Given the description of an element on the screen output the (x, y) to click on. 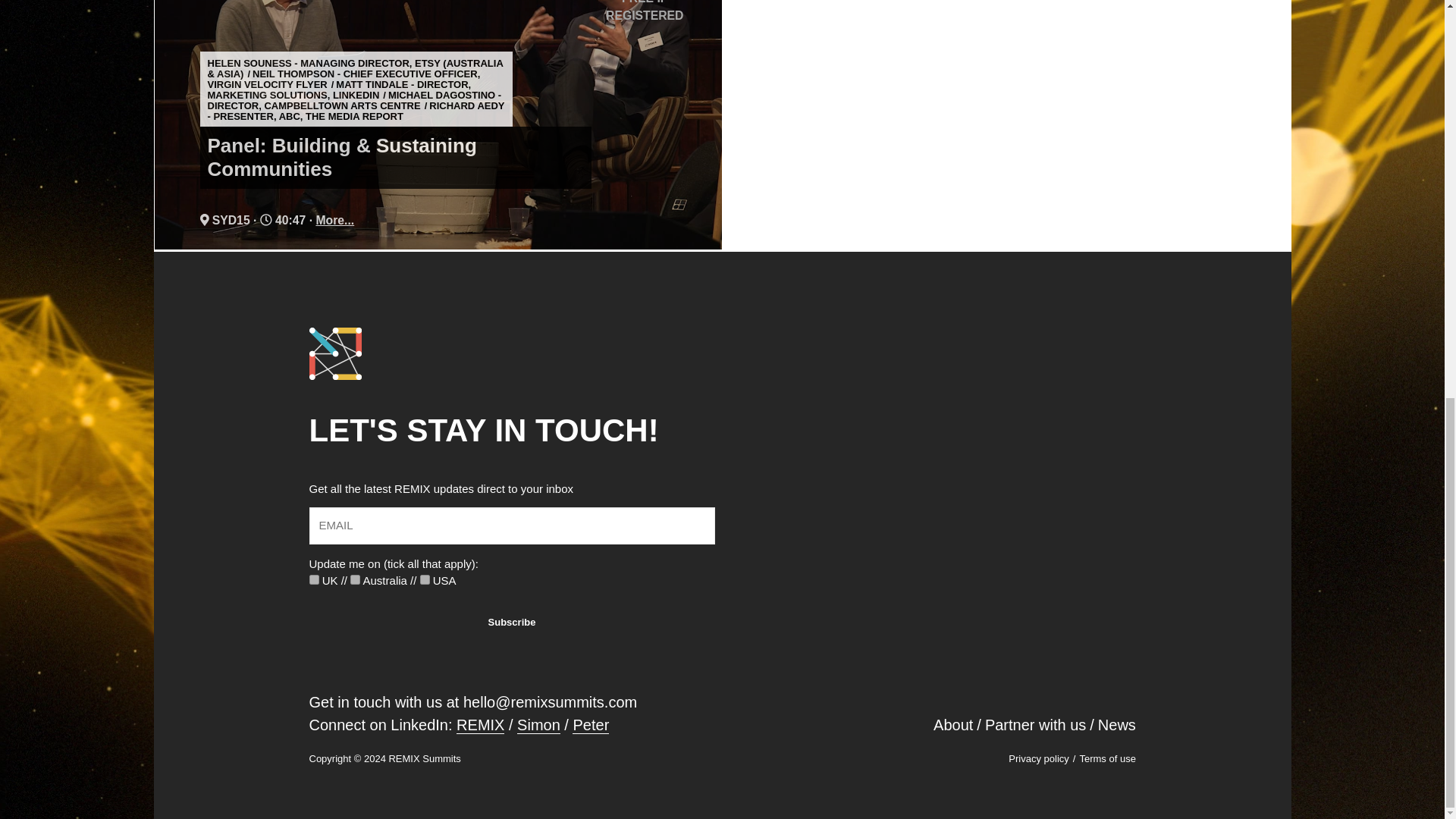
3 (313, 579)
5 (354, 579)
4 (424, 579)
Subscribe (511, 622)
